Given the description of an element on the screen output the (x, y) to click on. 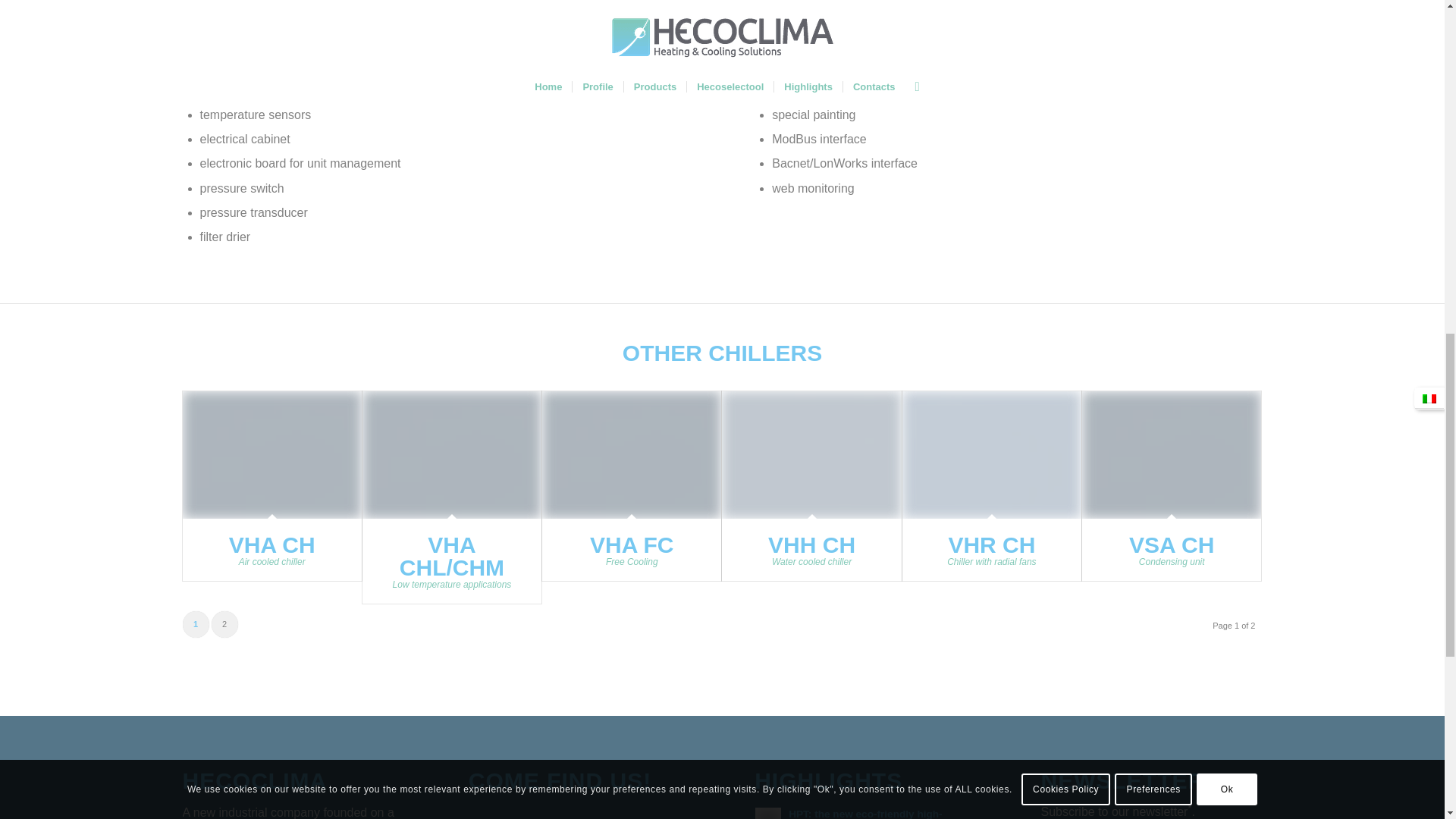
VSA CH (1171, 544)
VHA FC (630, 454)
VHA FC (631, 544)
VHH CH (811, 454)
VHA CH (271, 454)
VHH CH (812, 544)
VHA FC (631, 544)
VHA CH (271, 544)
VHR CH (991, 544)
VHR CH (991, 454)
2 (224, 624)
VHR CH (991, 544)
VHA CH (271, 544)
HPT: the new eco-friendly high-temperature heat pumps (865, 813)
VHH CH (812, 544)
